Given the description of an element on the screen output the (x, y) to click on. 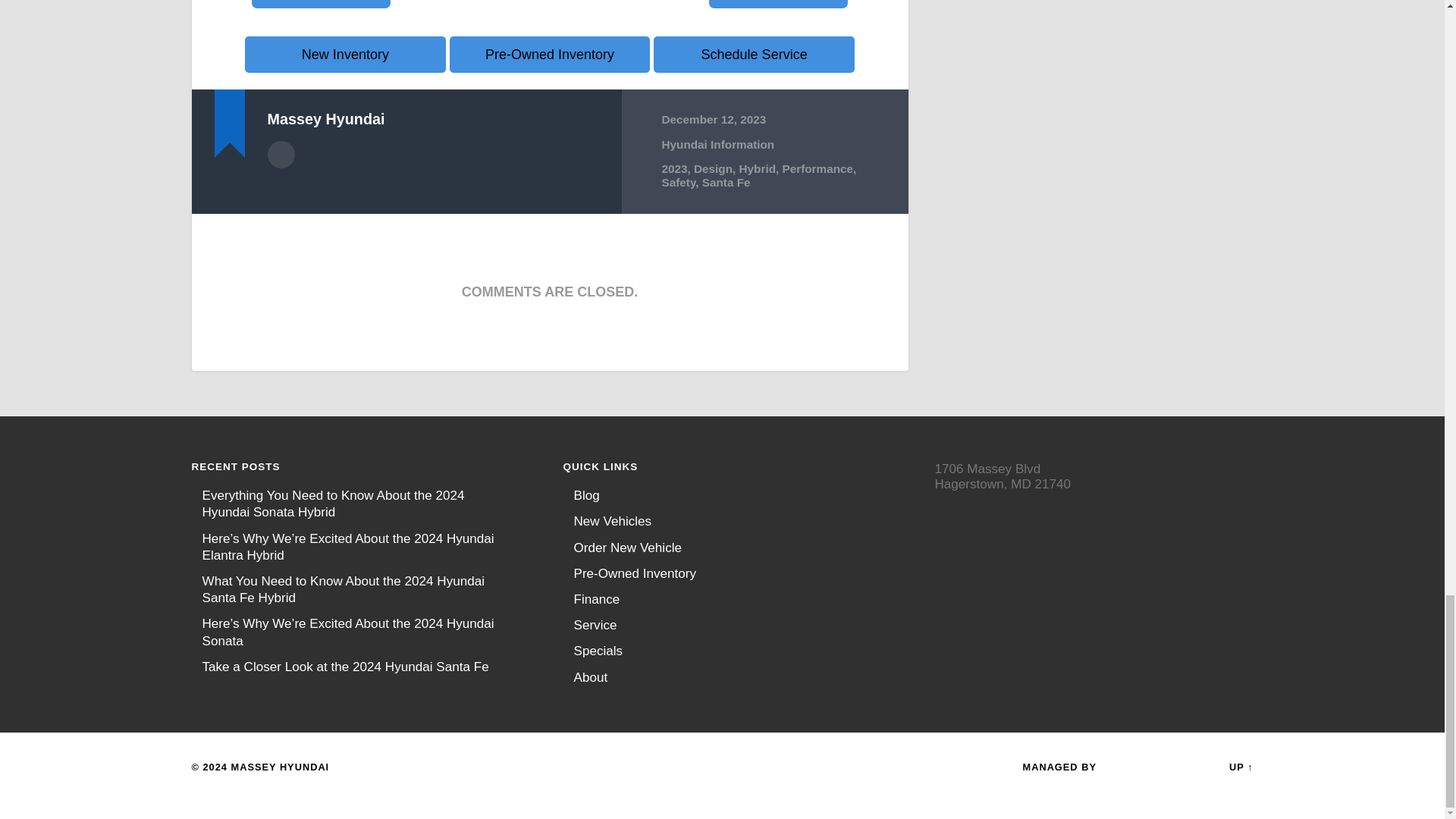
Design (713, 168)
Hyundai Information (717, 143)
Author archive (280, 154)
2023 (674, 168)
New Inventory (344, 54)
Performance (817, 168)
Hybrid (757, 168)
Schedule Service (753, 54)
Author archive (280, 154)
To the top (1240, 767)
Pre-Owned Inventory (549, 54)
